Given the description of an element on the screen output the (x, y) to click on. 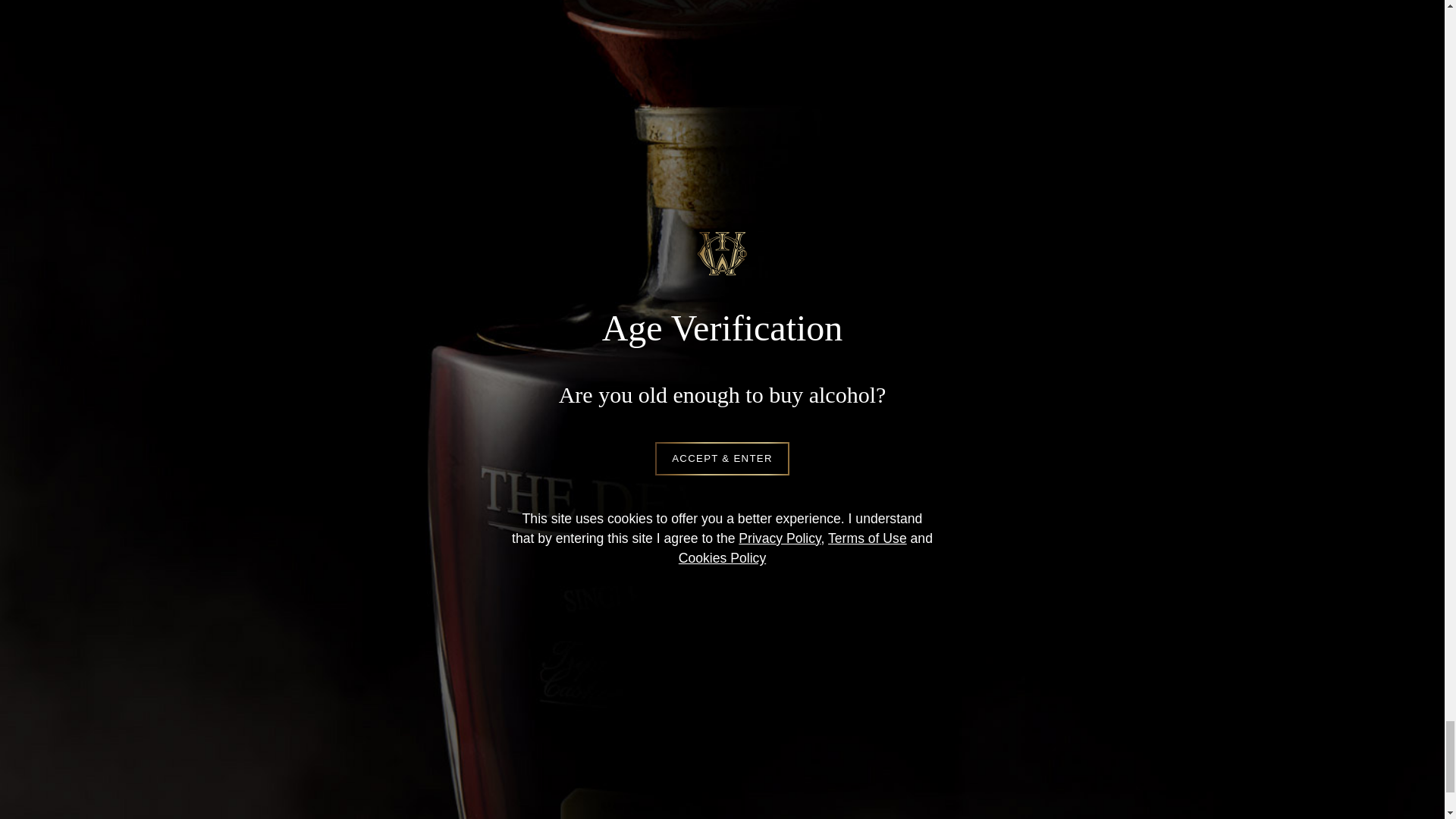
SIGN UP (721, 649)
PRIVACY POLICY (607, 784)
